Given the description of an element on the screen output the (x, y) to click on. 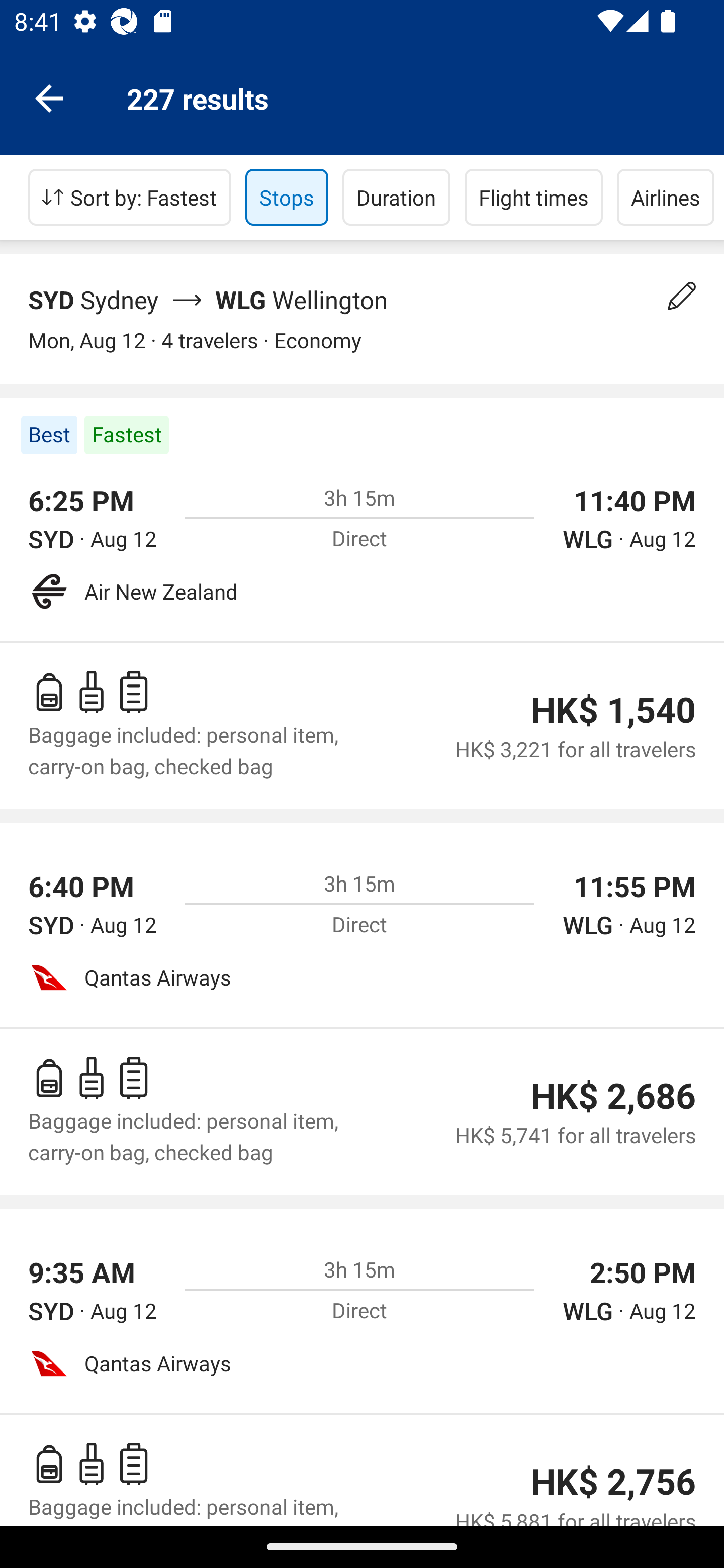
Navigate up (49, 97)
Sort by: Fastest (129, 197)
Stops (286, 197)
Duration (396, 197)
Flight times (533, 197)
Airlines (665, 197)
Change your search details (681, 296)
HK$ 1,540 (612, 710)
HK$ 2,686 (612, 1095)
HK$ 2,756 (612, 1481)
